Given the description of an element on the screen output the (x, y) to click on. 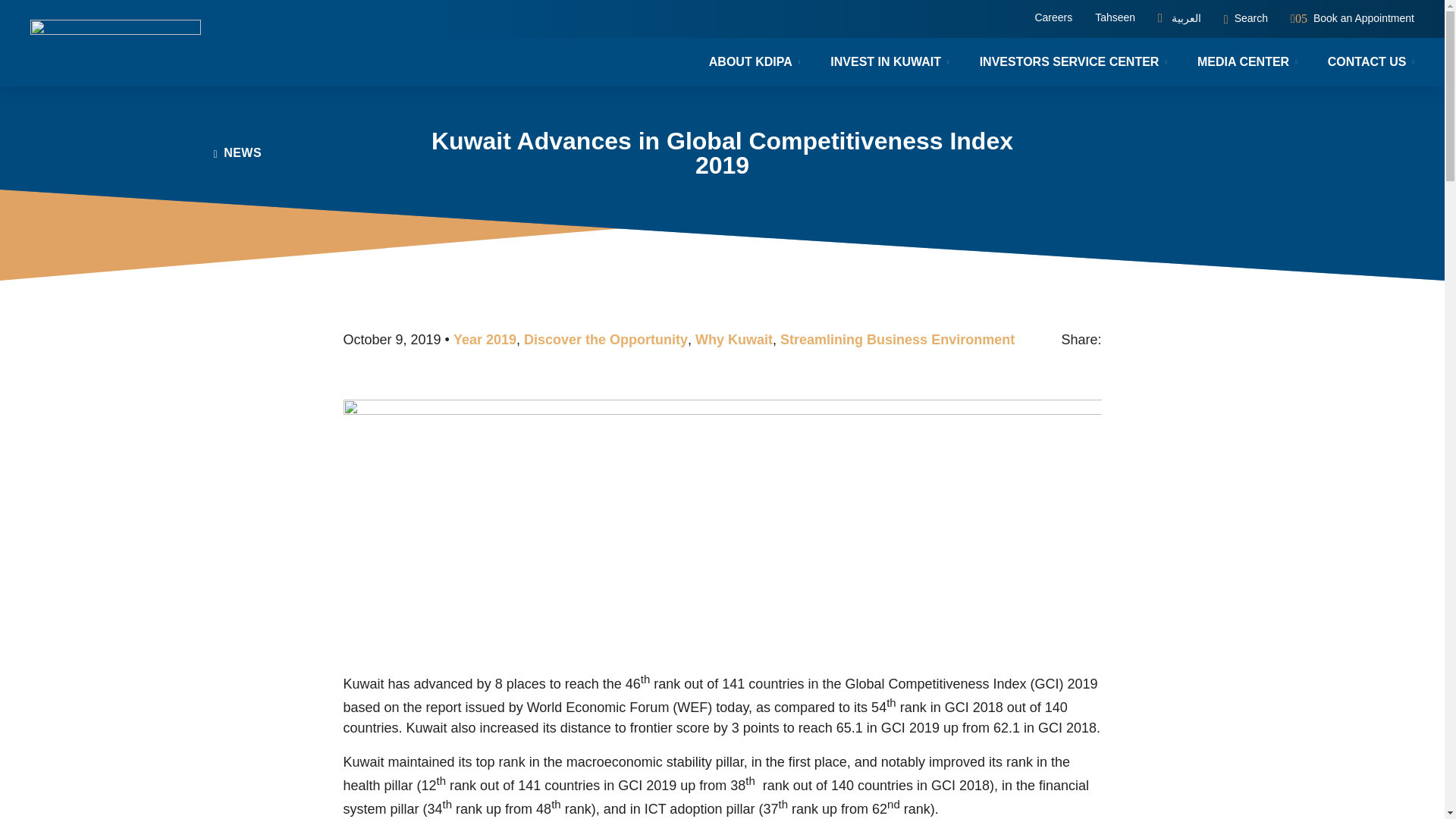
Careers (1052, 18)
05Book an Appointment (1351, 18)
Tahseen (1114, 18)
Search (1246, 18)
CONTACT US (1363, 61)
INVEST IN KUWAIT (889, 61)
INVESTORS SERVICE CENTER (1072, 61)
MEDIA CENTER (1247, 61)
ABOUT KDIPA (754, 61)
